Given the description of an element on the screen output the (x, y) to click on. 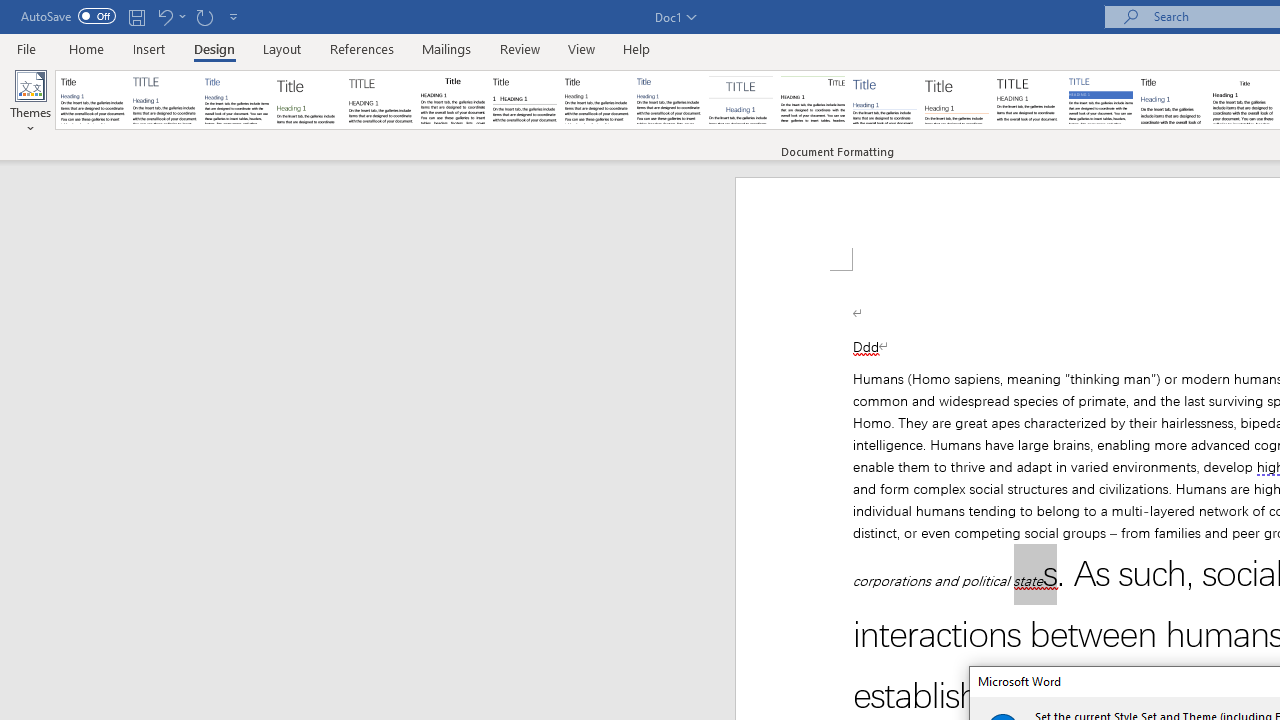
Document (93, 100)
Lines (Distinctive) (812, 100)
Basic (Stylish) (308, 100)
Lines (Stylish) (957, 100)
Repeat Accessibility Checker (204, 15)
Undo Apply Quick Style Set (170, 15)
Themes (30, 102)
Black & White (Numbered) (524, 100)
Minimalist (1028, 100)
Black & White (Classic) (452, 100)
